Given the description of an element on the screen output the (x, y) to click on. 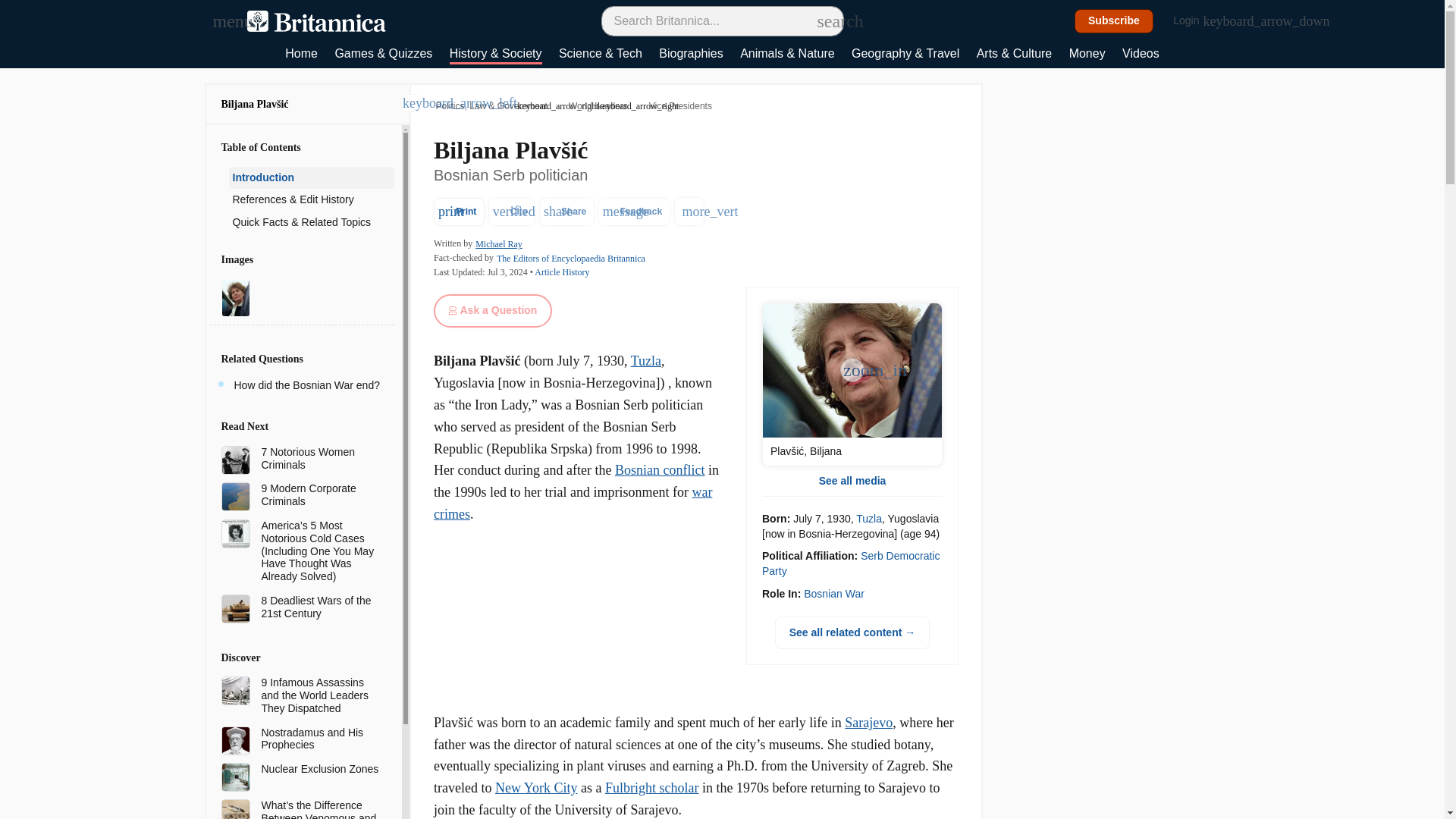
Login (1194, 20)
How did the Bosnian War end? (305, 385)
9 Modern Corporate Criminals (320, 494)
Click here to search (825, 20)
8 Deadliest Wars of the 21st Century (320, 606)
Biographies (691, 54)
Images (300, 259)
7 Notorious Women Criminals (320, 458)
Money (1086, 54)
Home (301, 54)
Subscribe (1114, 21)
Videos (1140, 54)
